Given the description of an element on the screen output the (x, y) to click on. 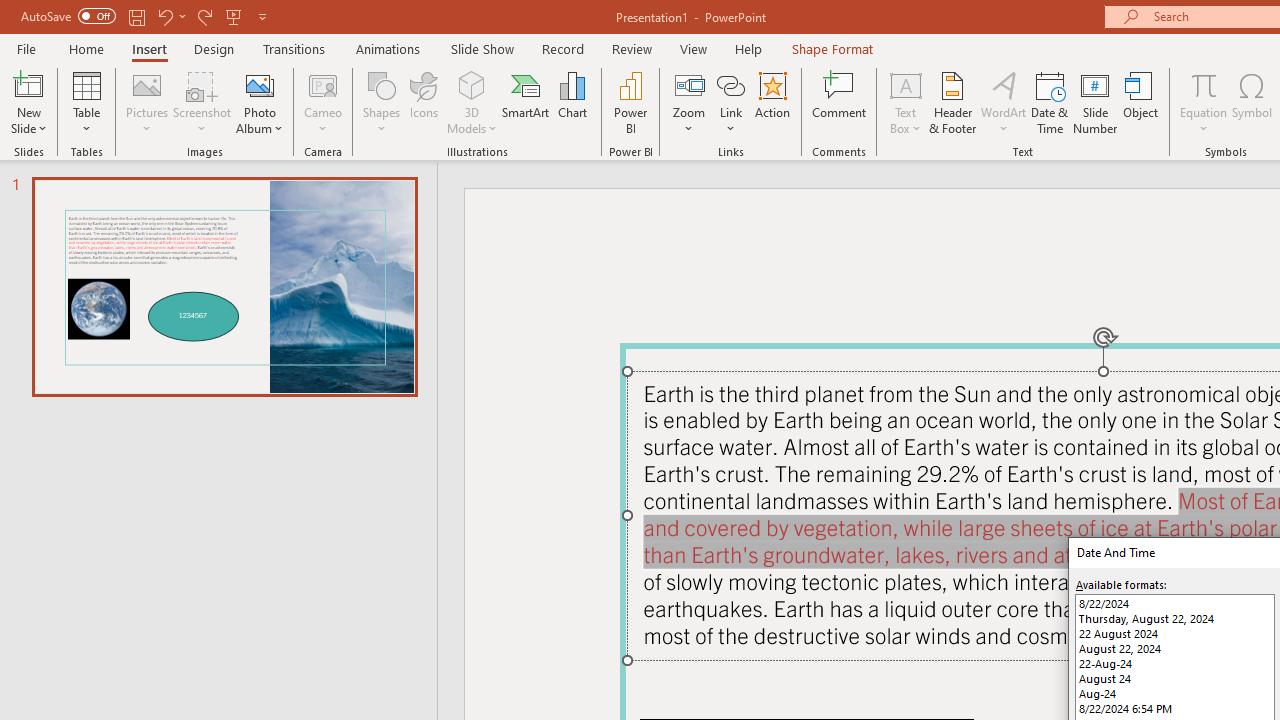
Draw Horizontal Text Box (905, 84)
Equation (1203, 84)
SmartArt... (525, 102)
Chart... (572, 102)
File Tab (26, 48)
New Slide (28, 84)
Save (136, 15)
Zoom (689, 102)
From Beginning (234, 15)
Record (562, 48)
Thursday, August 22, 2024 (1174, 618)
Header & Footer... (952, 102)
View (693, 48)
Customize Quick Access Toolbar (262, 15)
Undo (170, 15)
